Given the description of an element on the screen output the (x, y) to click on. 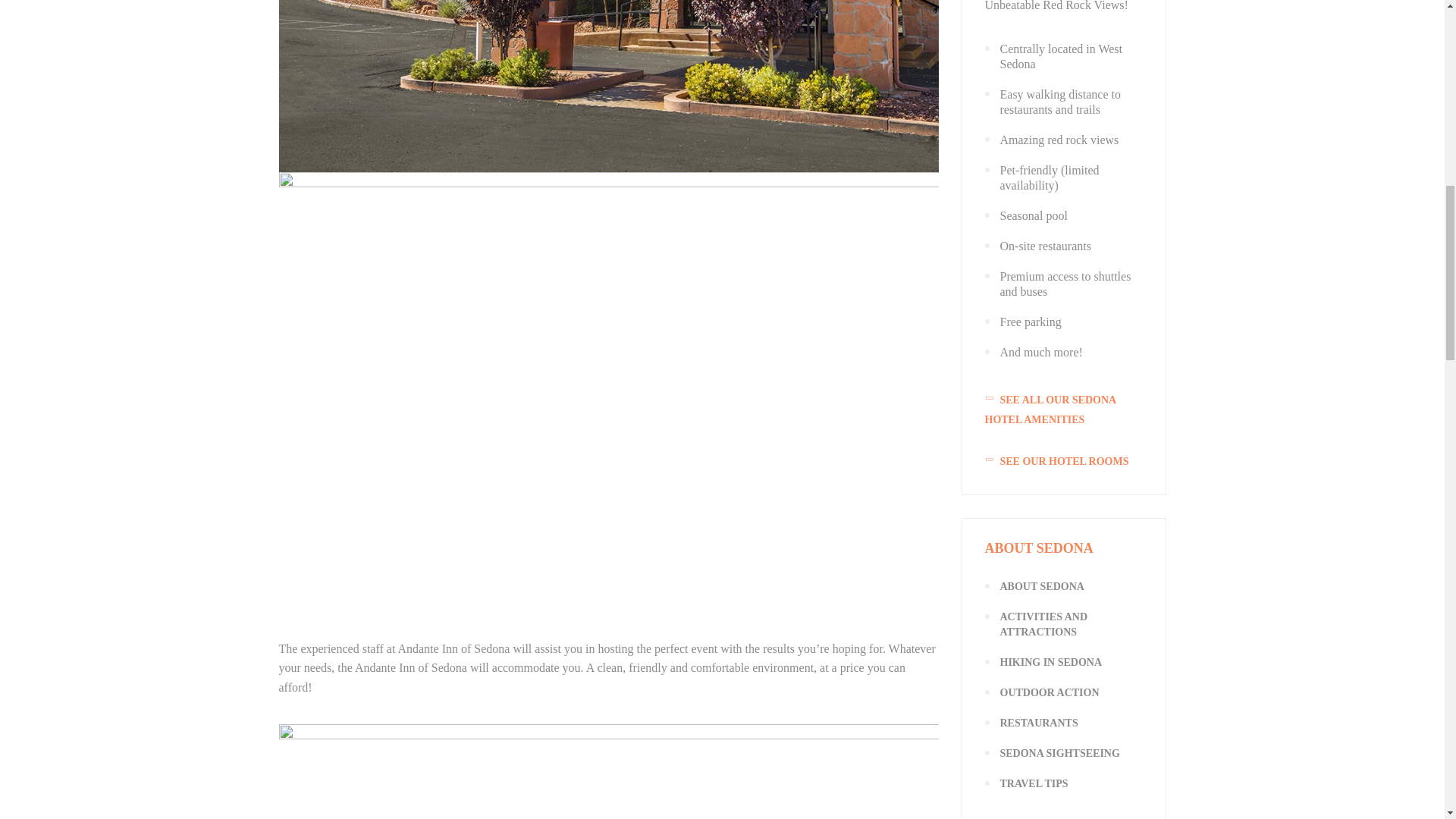
SEE OUR HOTEL ROOMS (1062, 461)
ABOUT SEDONA (1040, 586)
RESTAURANTS (1037, 722)
SEE ALL OUR SEDONA HOTEL AMENITIES (1062, 409)
SEDONA SIGHTSEEING (1058, 753)
OUTDOOR ACTION (1048, 692)
HIKING IN SEDONA (1050, 662)
ACTIVITIES AND ATTRACTIONS (1042, 624)
TRAVEL TIPS (1032, 783)
